Given the description of an element on the screen output the (x, y) to click on. 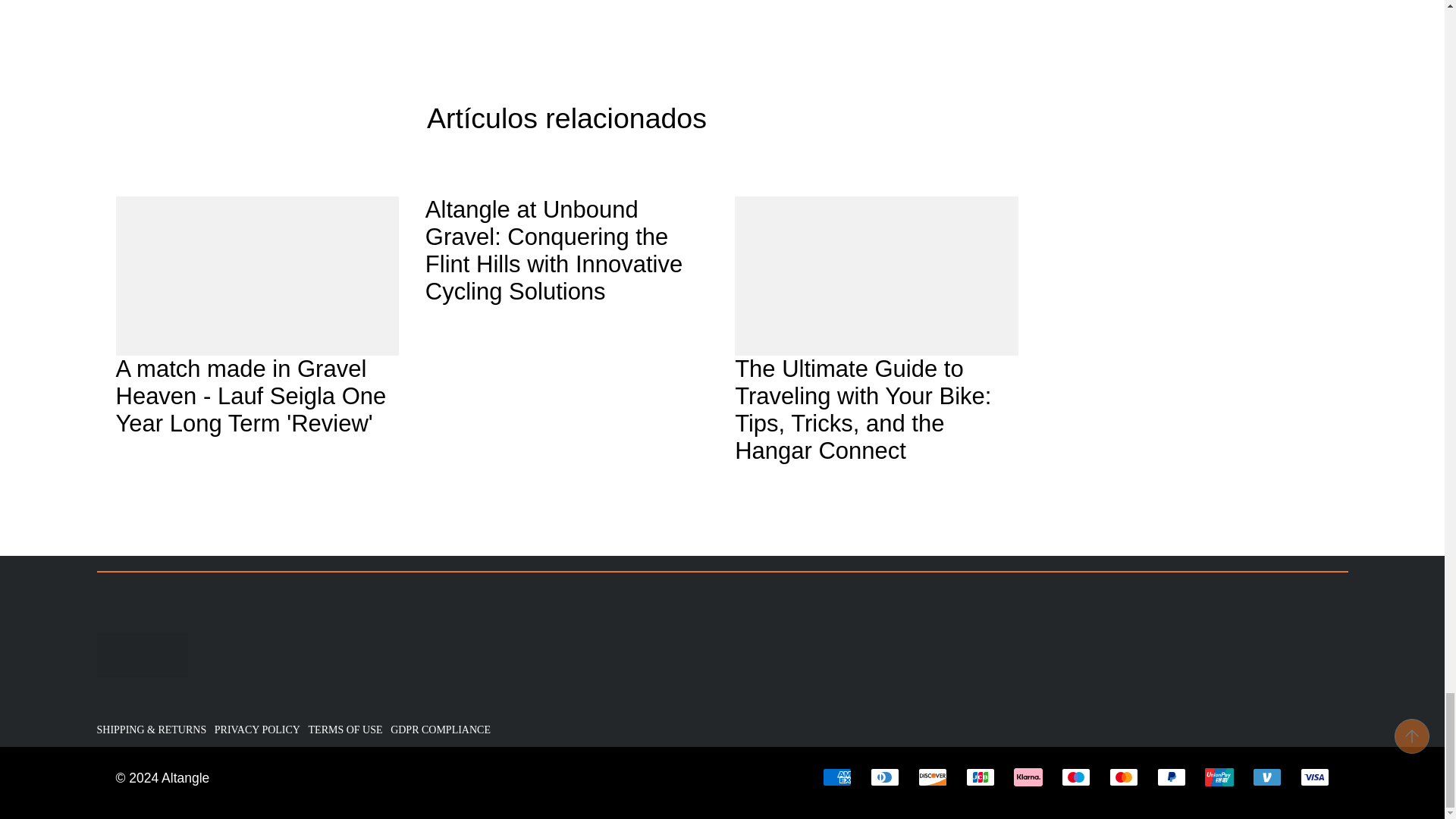
Terms of use (347, 729)
Privacy Policy (259, 729)
GDPR Compilance (442, 729)
